Given the description of an element on the screen output the (x, y) to click on. 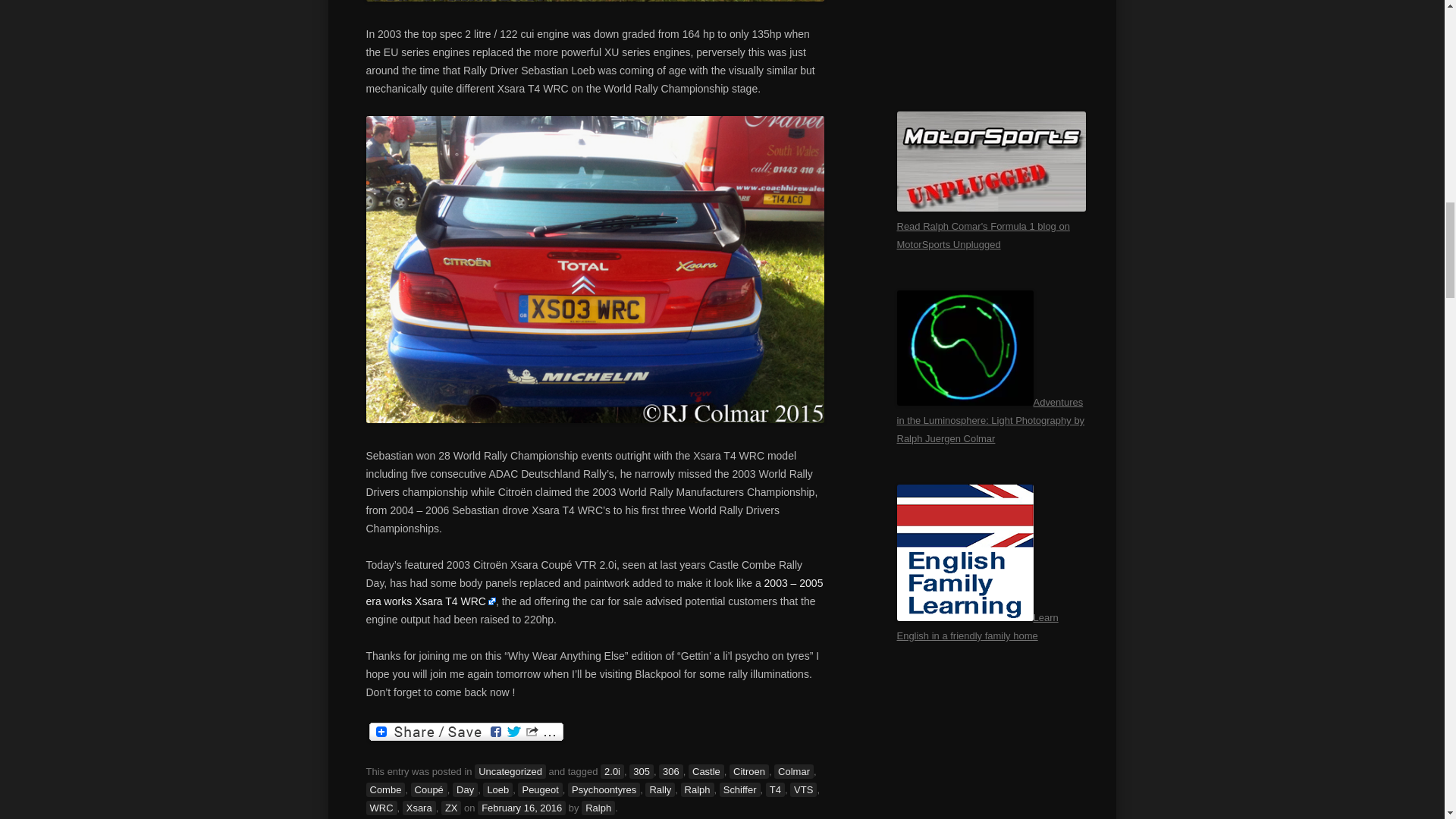
Psychoontyres (603, 789)
WRC (380, 807)
Schiffer (739, 789)
306 (670, 771)
12:01 am (521, 807)
Ralph (597, 807)
February 16, 2016 (521, 807)
T4 (774, 789)
Citroen (748, 771)
ZX (451, 807)
